Given the description of an element on the screen output the (x, y) to click on. 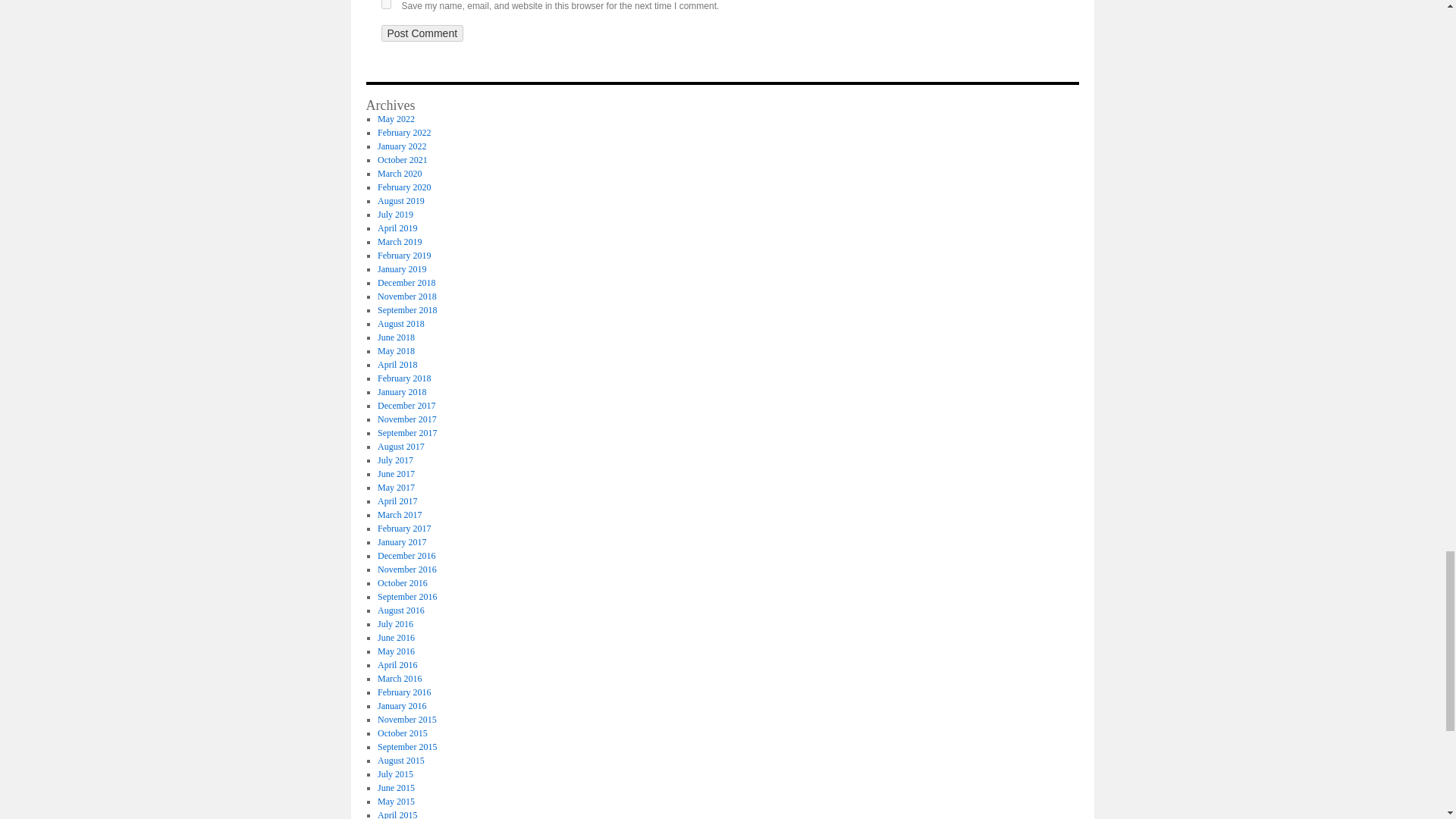
Post Comment (421, 33)
yes (385, 4)
Post Comment (421, 33)
